Given the description of an element on the screen output the (x, y) to click on. 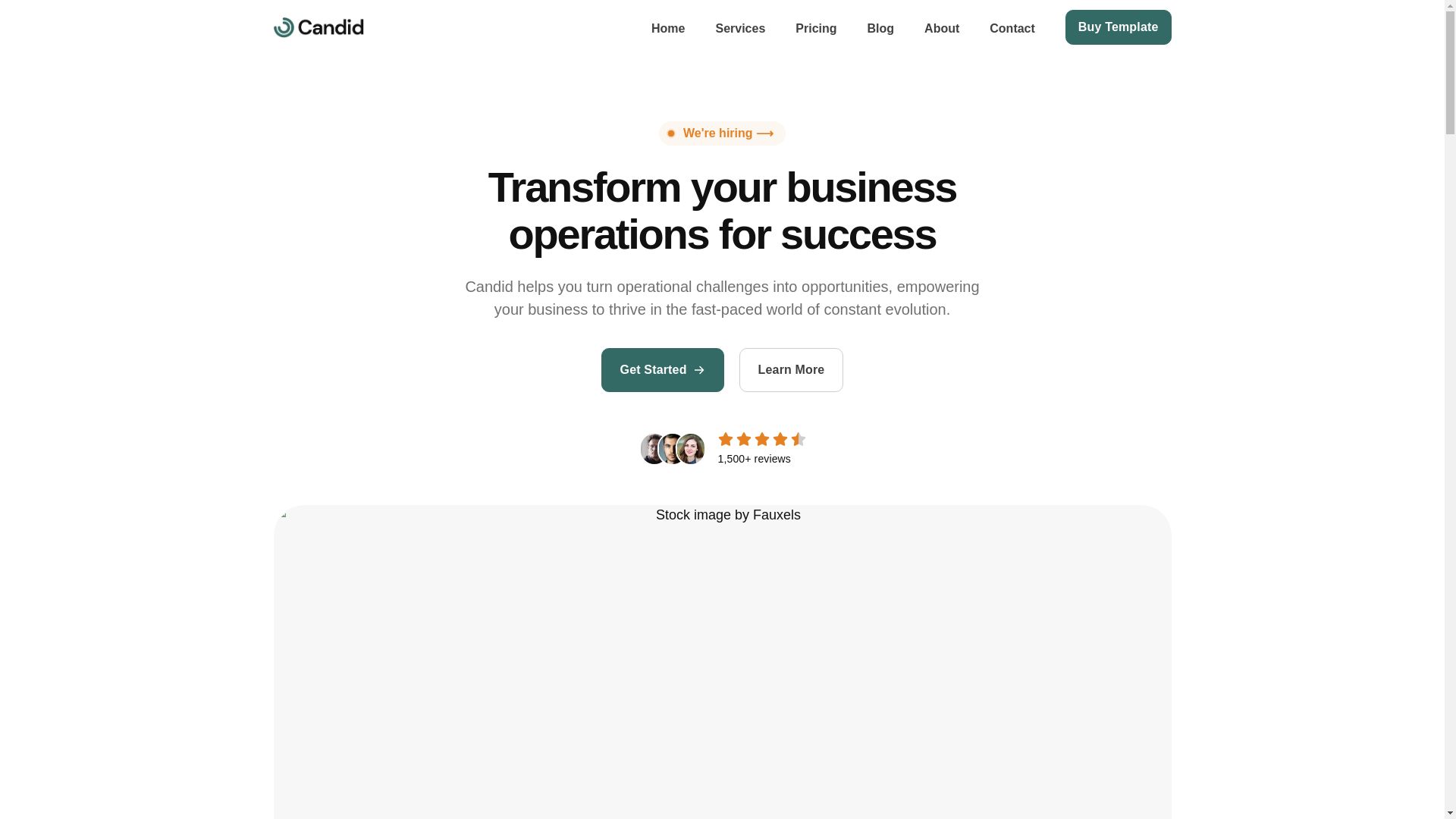
Home (667, 26)
About (941, 26)
Learn More (791, 370)
Buy Template (1118, 27)
Pricing (814, 26)
Services (739, 26)
Blog (881, 26)
Contact (1012, 26)
Get Started (662, 370)
